Given the description of an element on the screen output the (x, y) to click on. 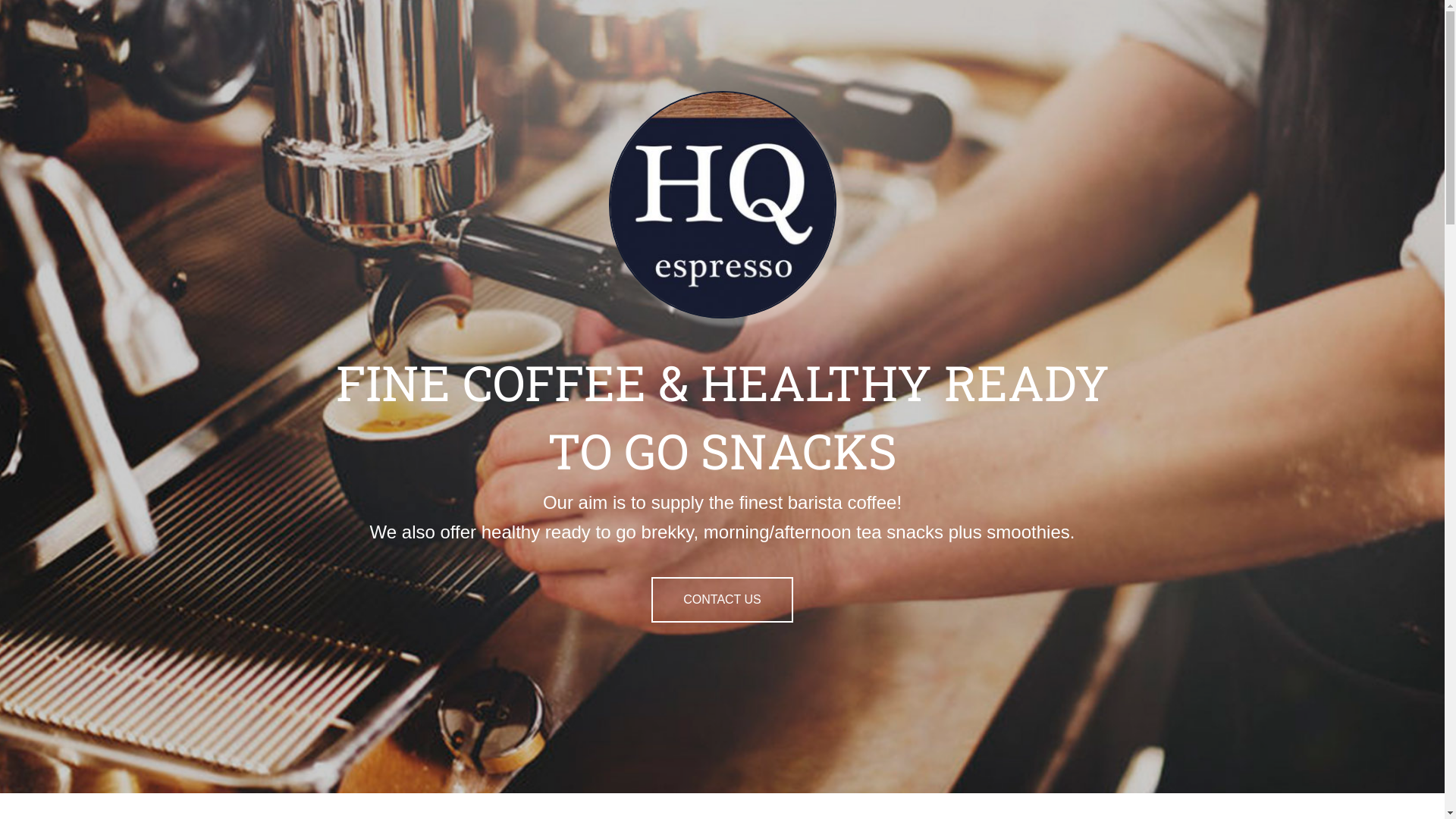
cropped-hqespresso-logo-new.jpg Element type: hover (721, 204)
CONTACT US Element type: text (722, 599)
